Given the description of an element on the screen output the (x, y) to click on. 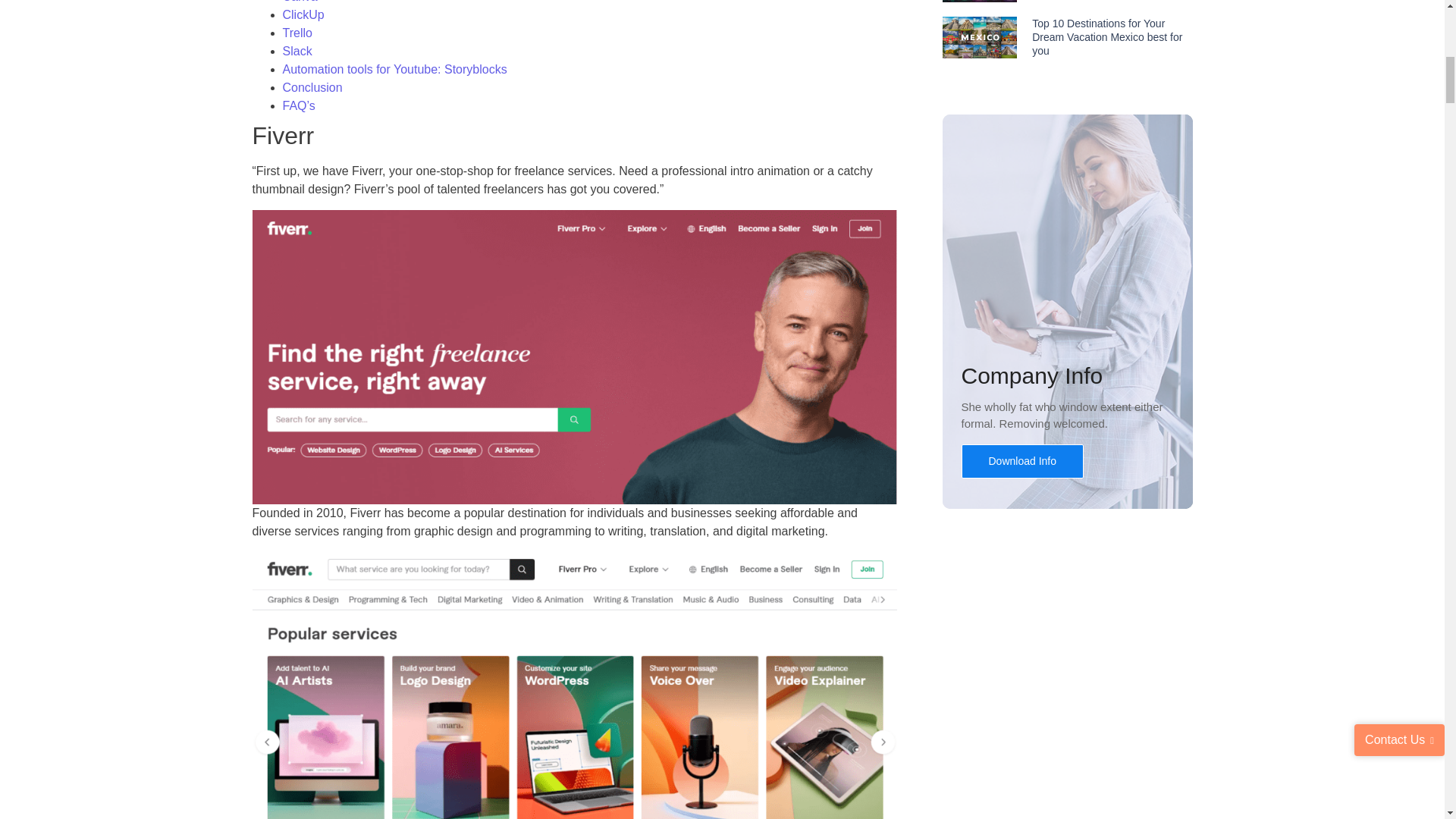
Slack (296, 51)
Conclusion (312, 87)
Canva (299, 1)
Automation tools for Youtube: Storyblocks (394, 69)
Trello (296, 32)
ClickUp (302, 14)
